Given the description of an element on the screen output the (x, y) to click on. 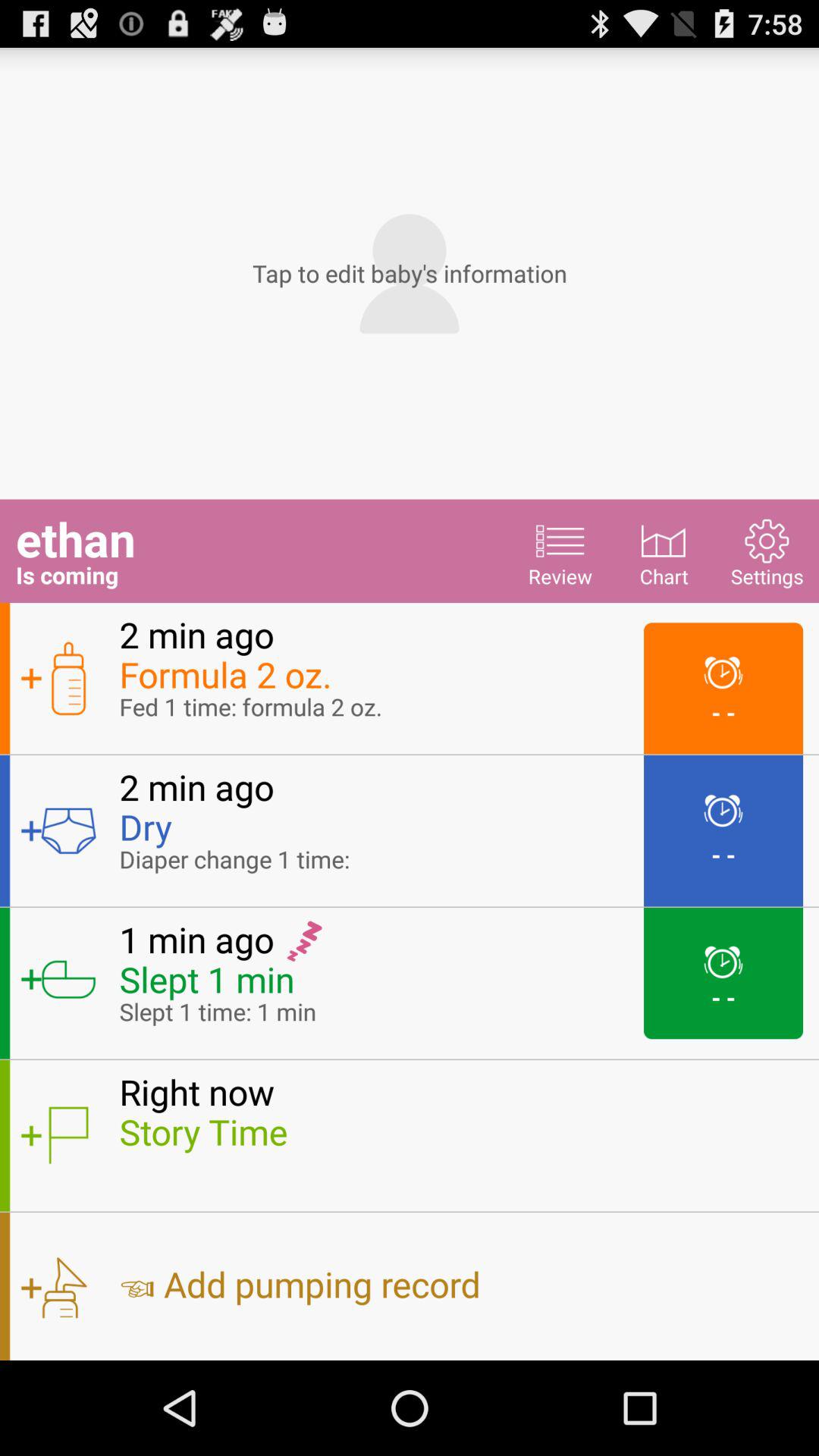
click settings (767, 550)
